Given the description of an element on the screen output the (x, y) to click on. 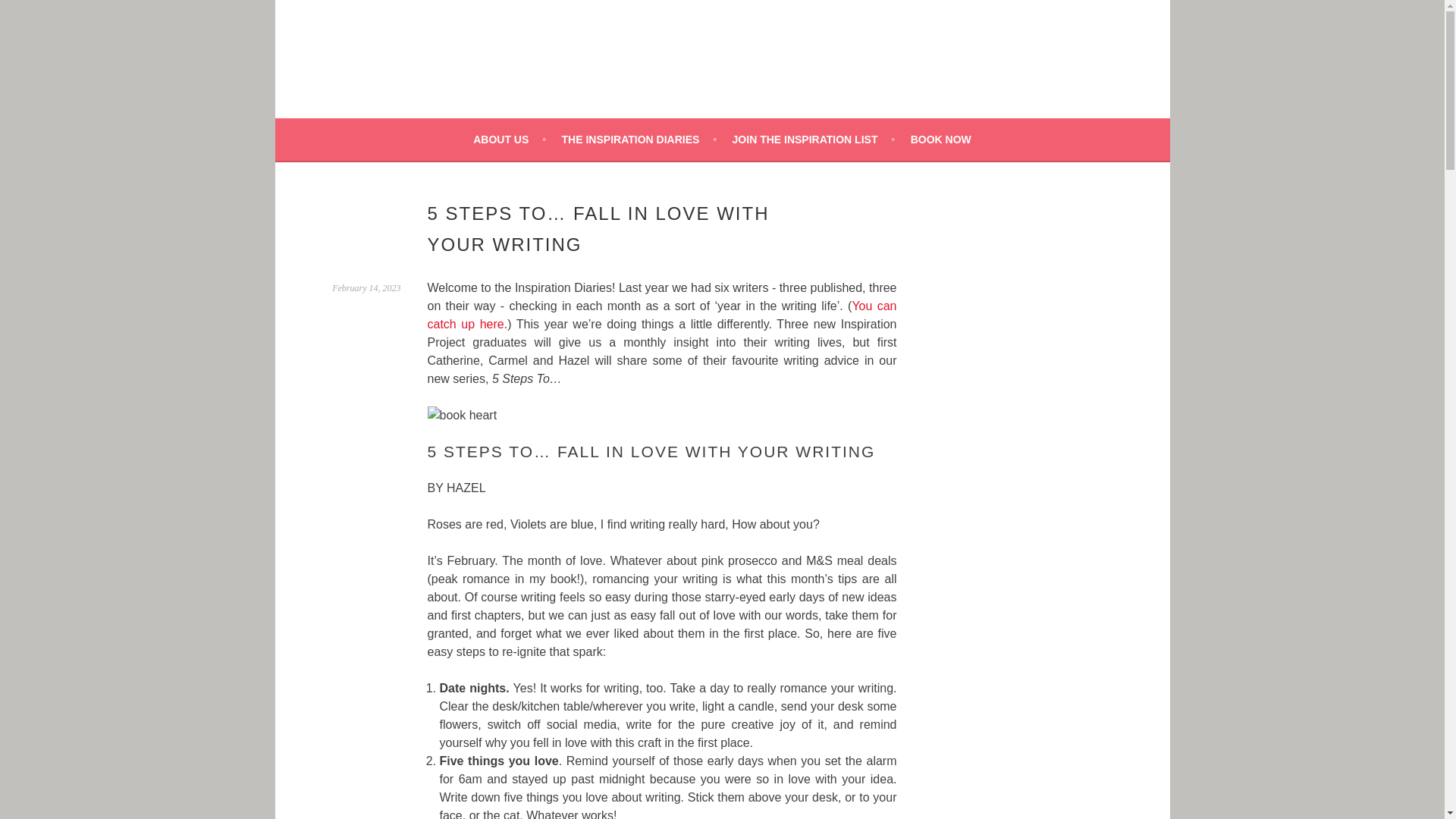
ABOUT US (509, 139)
The Inspiration Project (517, 90)
THE INSPIRATION DIARIES (639, 139)
THE INSPIRATION PROJECT (517, 90)
JOIN THE INSPIRATION LIST (813, 139)
BOOK NOW (941, 139)
February 14, 2023 (365, 287)
You can catch up here (662, 314)
